Given the description of an element on the screen output the (x, y) to click on. 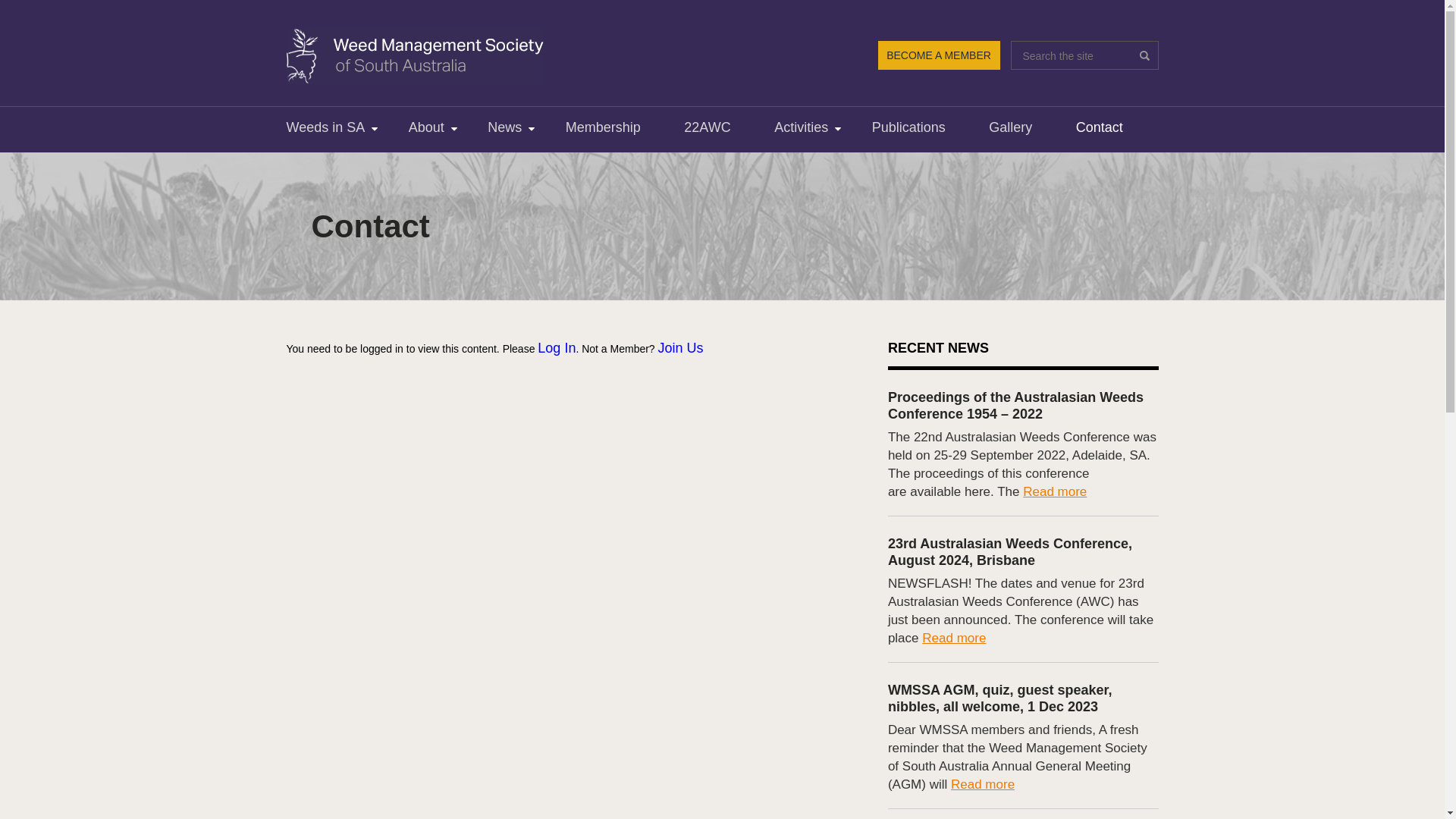
About Element type: text (426, 127)
Join Us Element type: text (680, 347)
Publications Element type: text (908, 127)
Read more Element type: text (1054, 491)
Contact Element type: text (1099, 127)
Read more Element type: text (953, 637)
News Element type: text (504, 127)
BECOME A MEMBER Element type: text (939, 54)
23rd Australasian Weeds Conference, August 2024, Brisbane Element type: text (1010, 551)
Membership Element type: text (602, 127)
Gallery Element type: text (1010, 127)
22AWC Element type: text (707, 127)
Read more Element type: text (982, 784)
Weeds in SA Element type: text (325, 127)
Activities Element type: text (801, 127)
Log In Element type: text (556, 347)
